Given the description of an element on the screen output the (x, y) to click on. 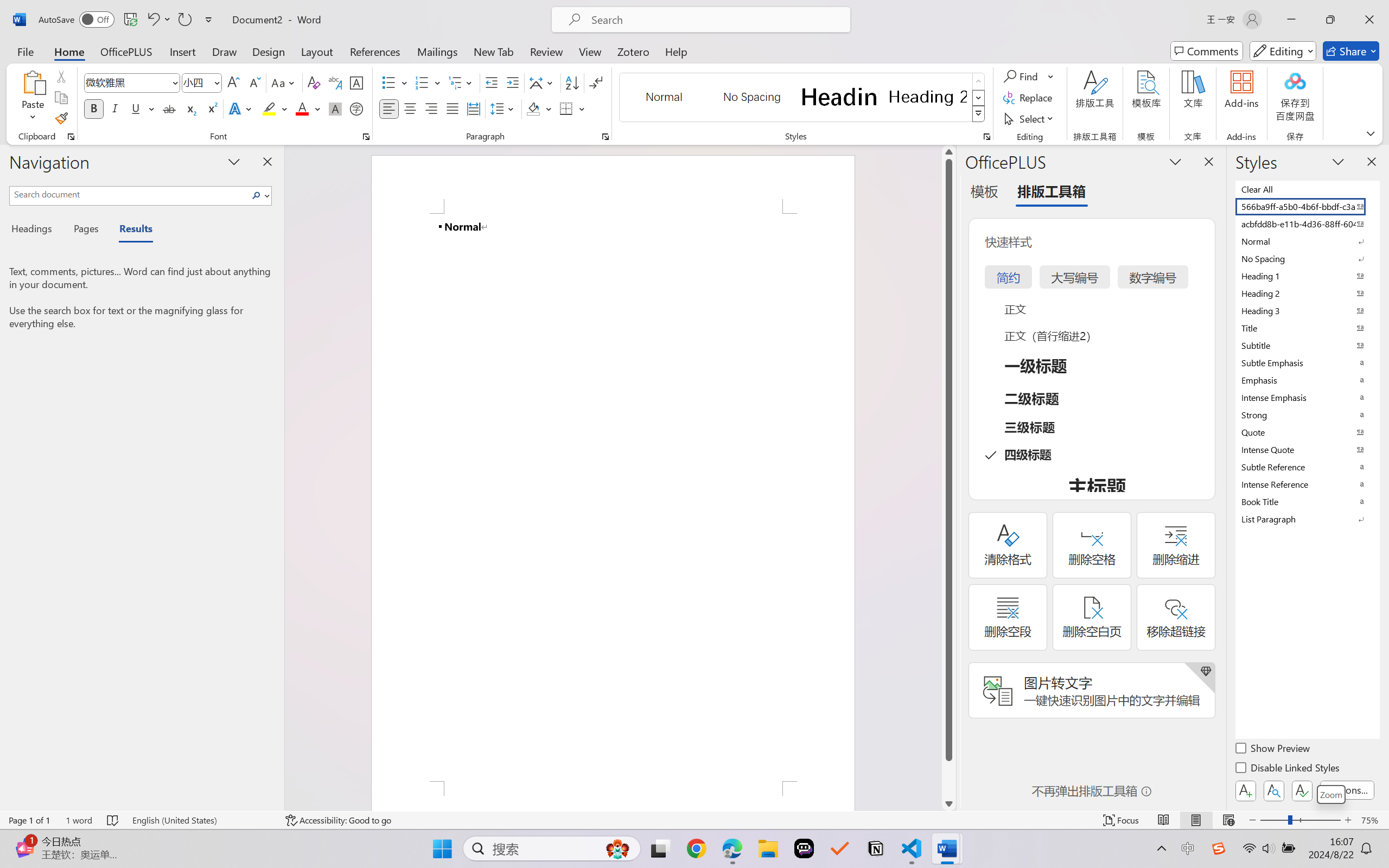
Borders (566, 108)
Clear All (1306, 188)
Web Layout (1228, 819)
New Tab (493, 51)
Line and Paragraph Spacing (503, 108)
Font (126, 82)
Open (215, 82)
Clear Formatting (313, 82)
Search document (128, 193)
Font... (365, 136)
Shading RGB(0, 0, 0) (533, 108)
